Given the description of an element on the screen output the (x, y) to click on. 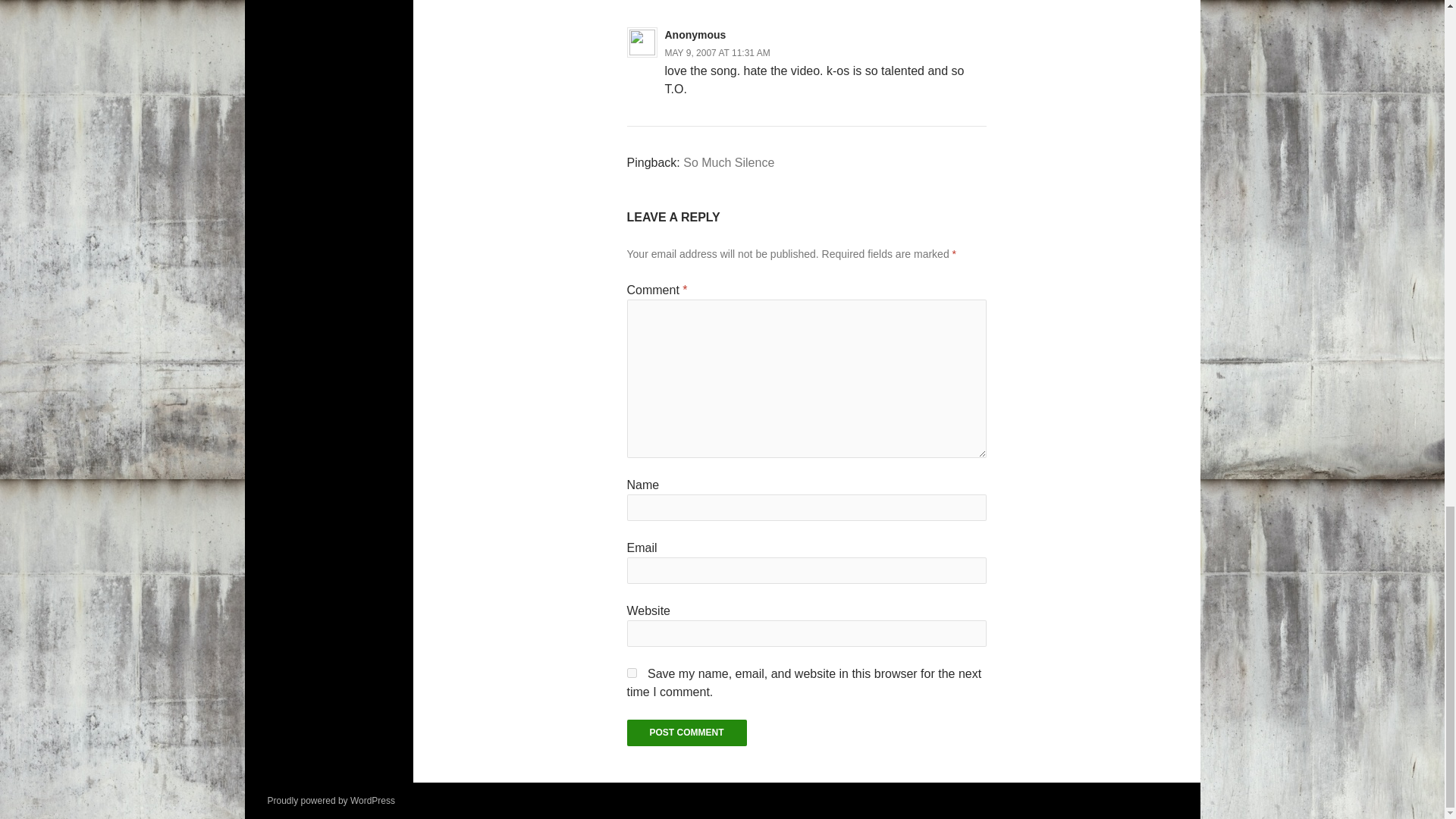
MAY 9, 2007 AT 11:31 AM (716, 52)
Post Comment (685, 732)
Proudly powered by WordPress (330, 800)
So Much Silence (728, 162)
Post Comment (685, 732)
yes (631, 673)
